Given the description of an element on the screen output the (x, y) to click on. 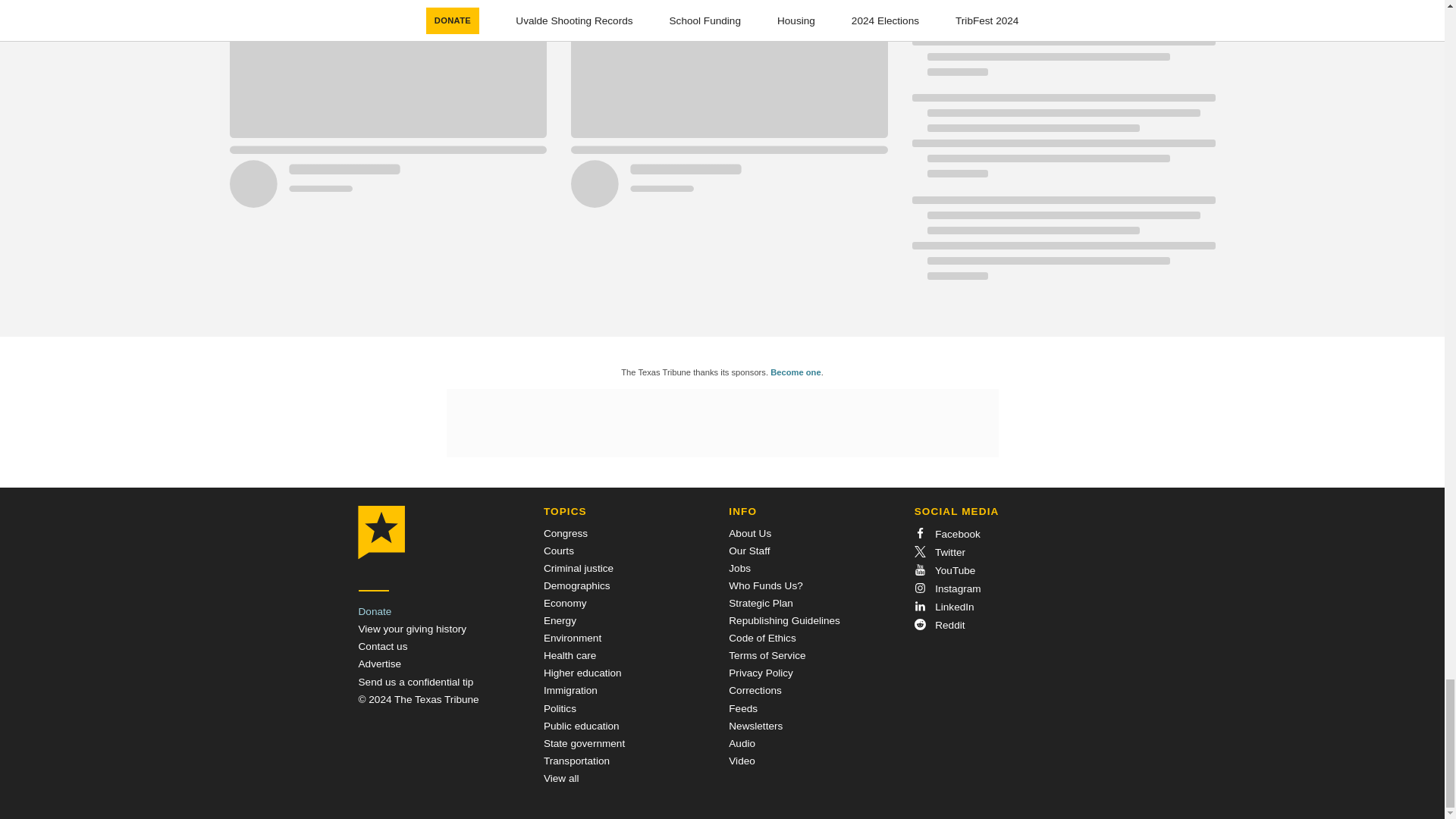
Advertise (379, 663)
Donate (374, 611)
Privacy Policy (761, 672)
Feeds (743, 708)
Newsletters (756, 726)
Republishing Guidelines (784, 620)
Contact us (382, 645)
Code of Ethics (761, 637)
Strategic Plan (761, 603)
Corrections (755, 690)
